Given the description of an element on the screen output the (x, y) to click on. 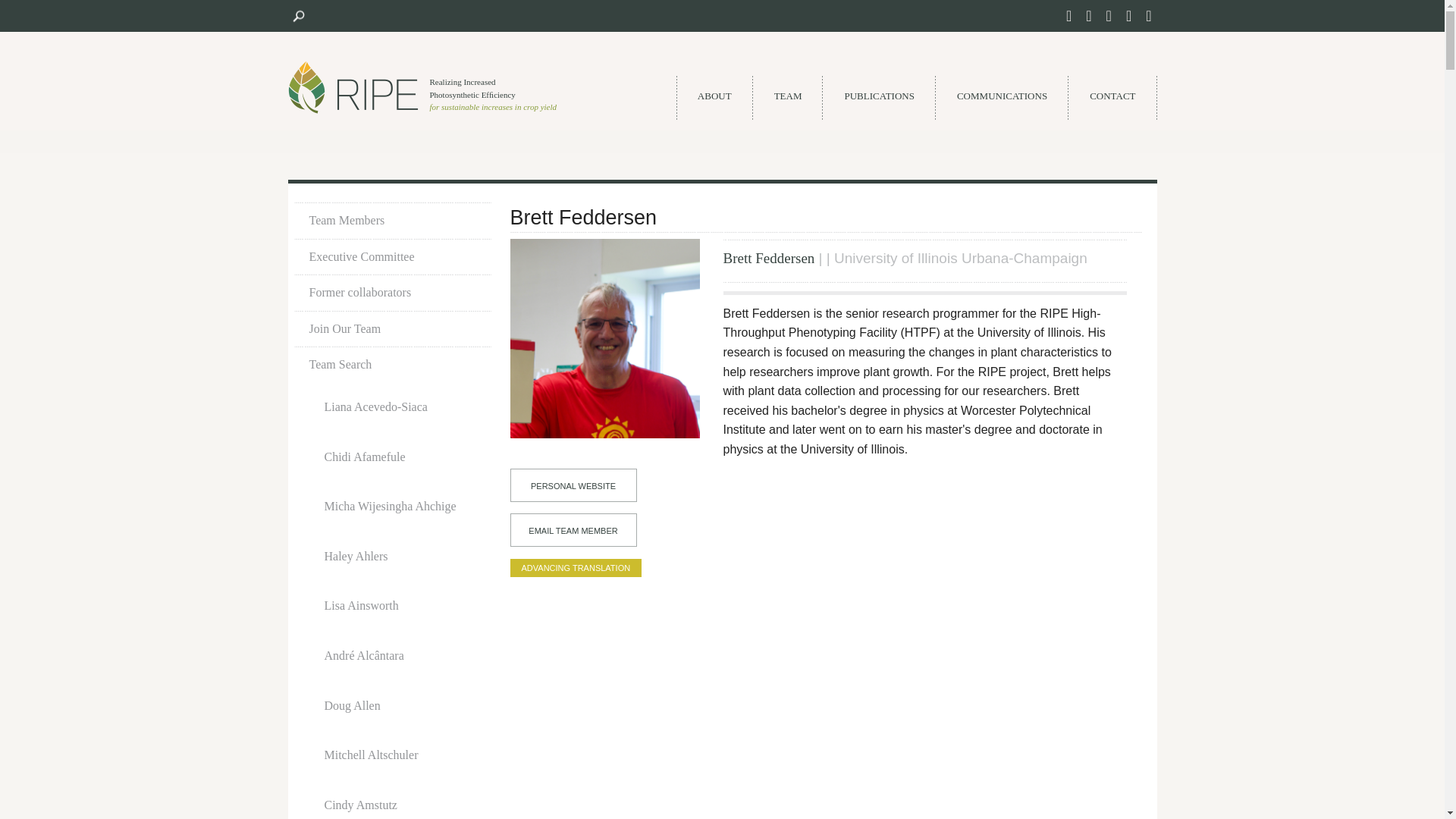
ABOUT (714, 97)
CONTACT (1112, 97)
Publications (879, 97)
Ripe (353, 86)
PUBLICATIONS (879, 97)
team (393, 220)
COMMUNICATIONS (1001, 97)
TEAM (788, 97)
